Given the description of an element on the screen output the (x, y) to click on. 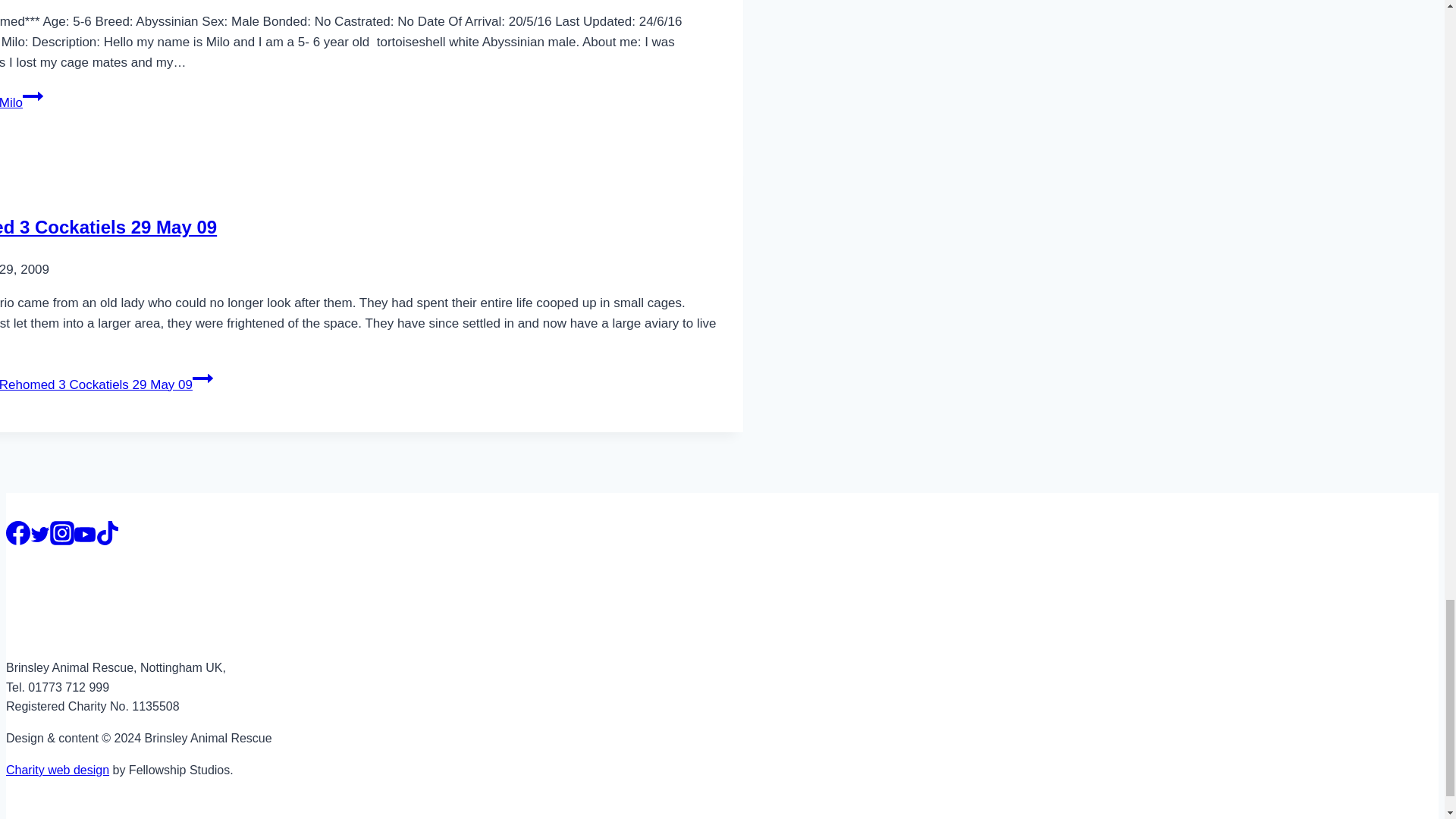
Continue (202, 378)
Instagram (61, 532)
YouTube (85, 534)
TikTok (107, 532)
Facebook (17, 532)
Twitter (39, 534)
Continue (33, 96)
